Given the description of an element on the screen output the (x, y) to click on. 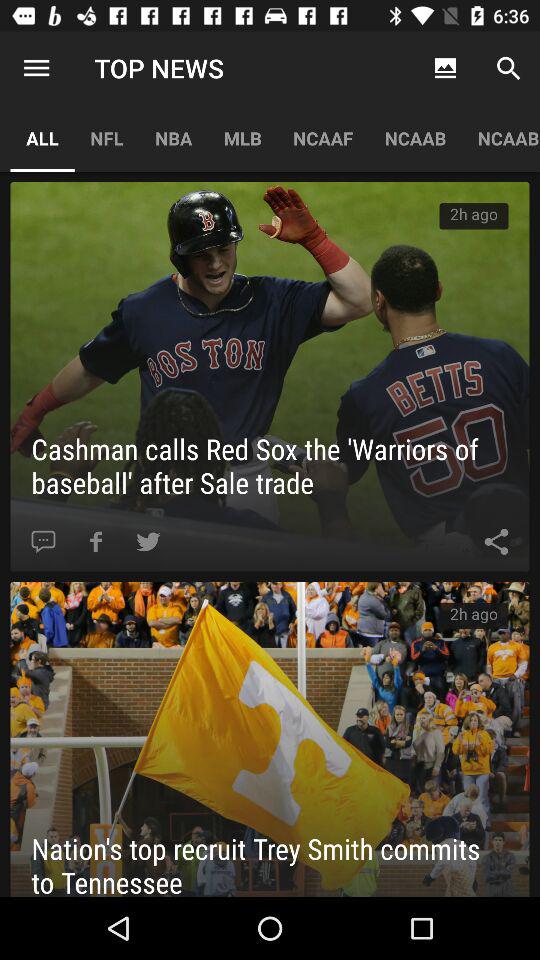
open icon to the right of nfl (173, 138)
